Given the description of an element on the screen output the (x, y) to click on. 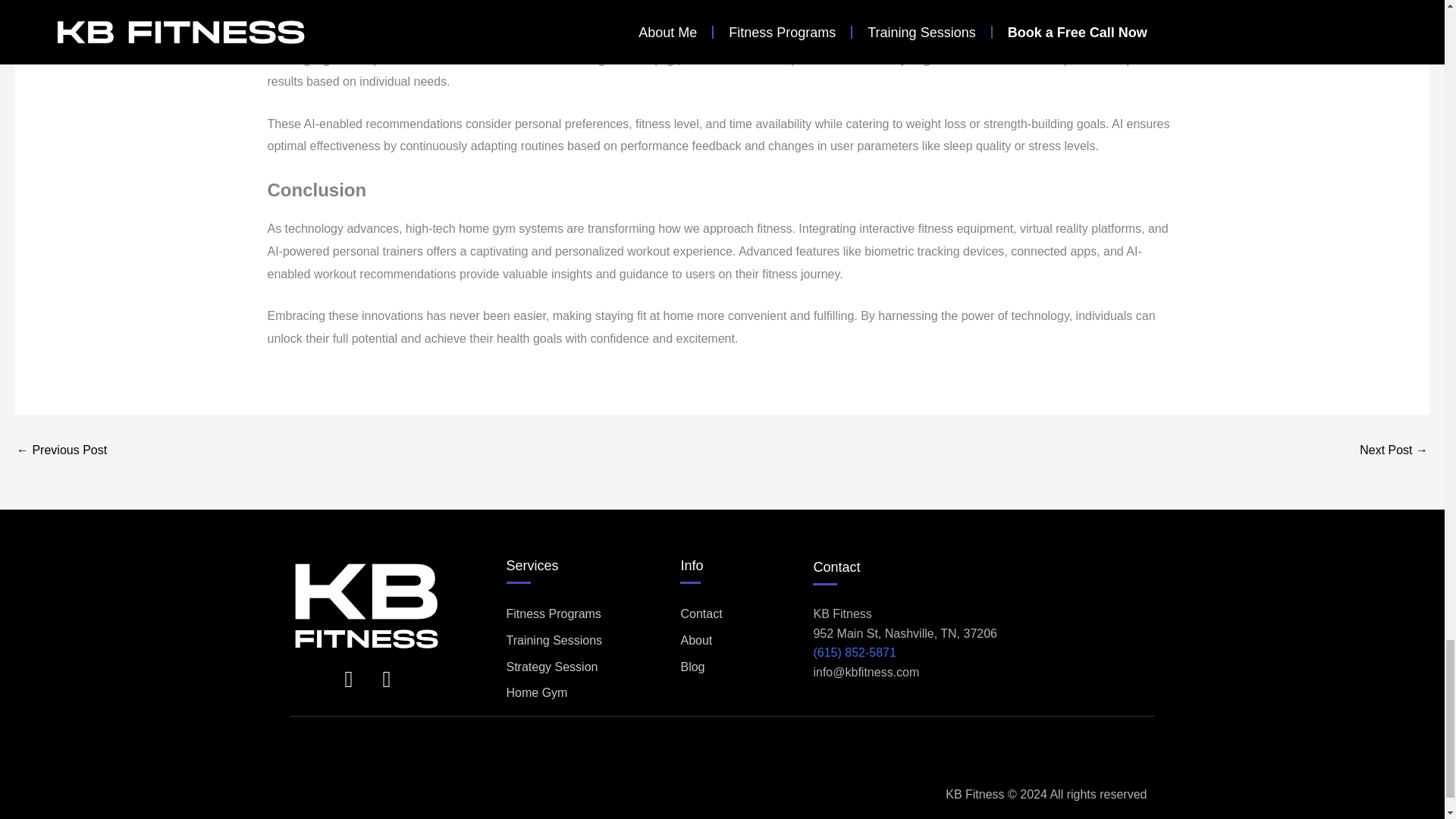
Training Sessions (589, 640)
Strategy Session (589, 667)
About (745, 640)
Facebook (386, 679)
Fitness Programs (589, 613)
Instagram (348, 679)
Services (532, 565)
Blog (745, 667)
Functional Fitness Routines (1393, 450)
Personalized Diet Consultation Services (61, 450)
